Given the description of an element on the screen output the (x, y) to click on. 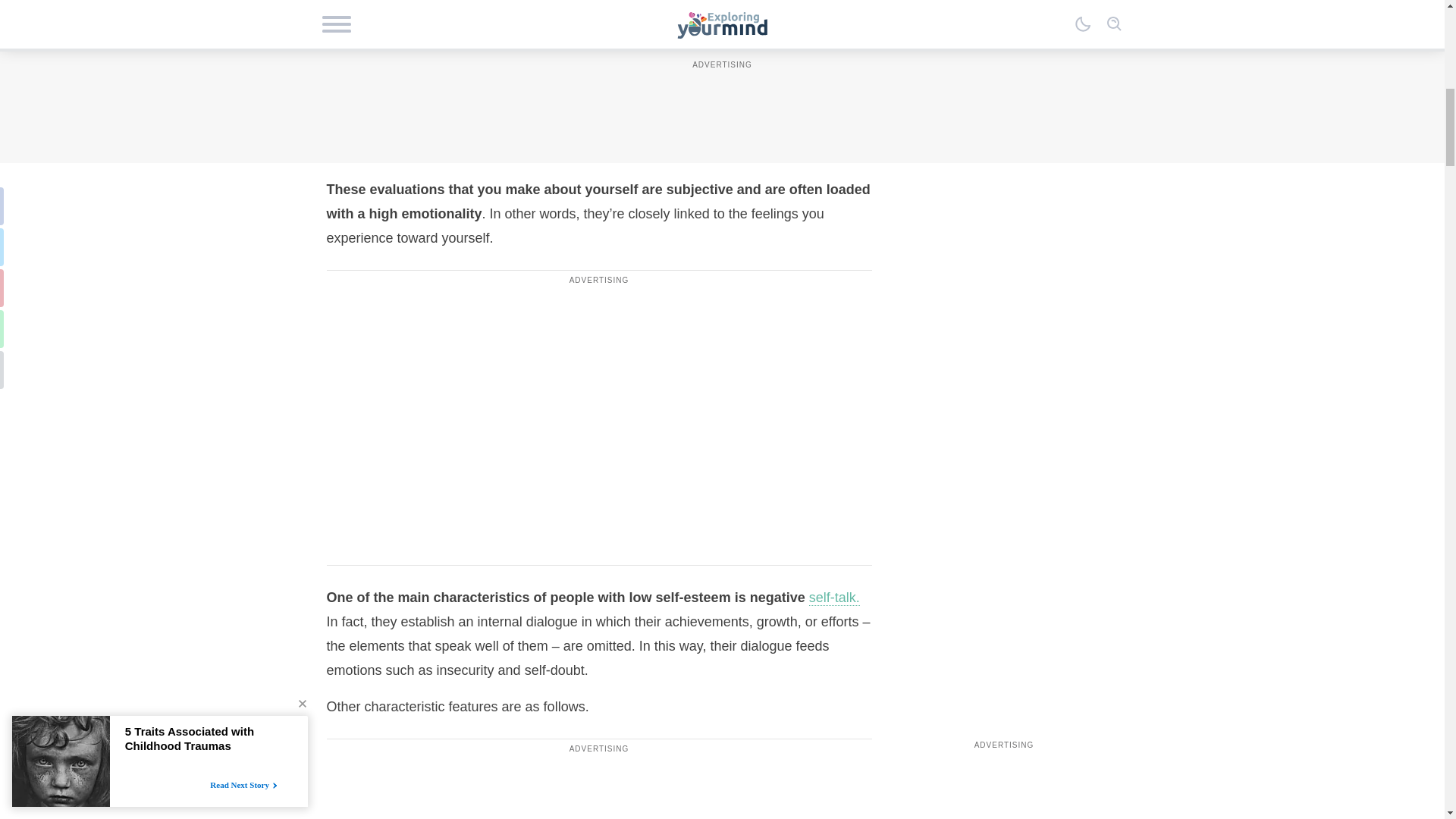
self-talk. (834, 597)
3rd party ad content (598, 382)
